Given the description of an element on the screen output the (x, y) to click on. 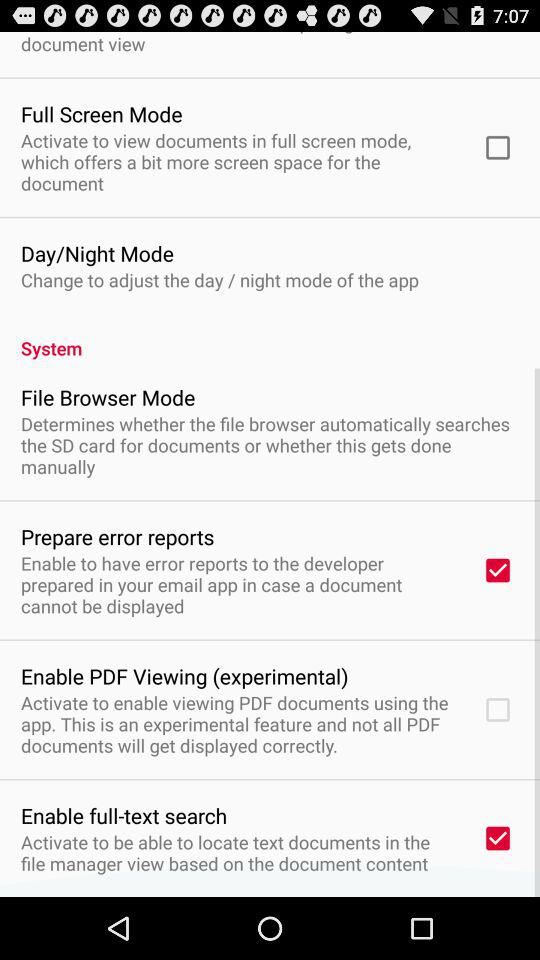
turn on the icon above the activate to be (124, 815)
